Given the description of an element on the screen output the (x, y) to click on. 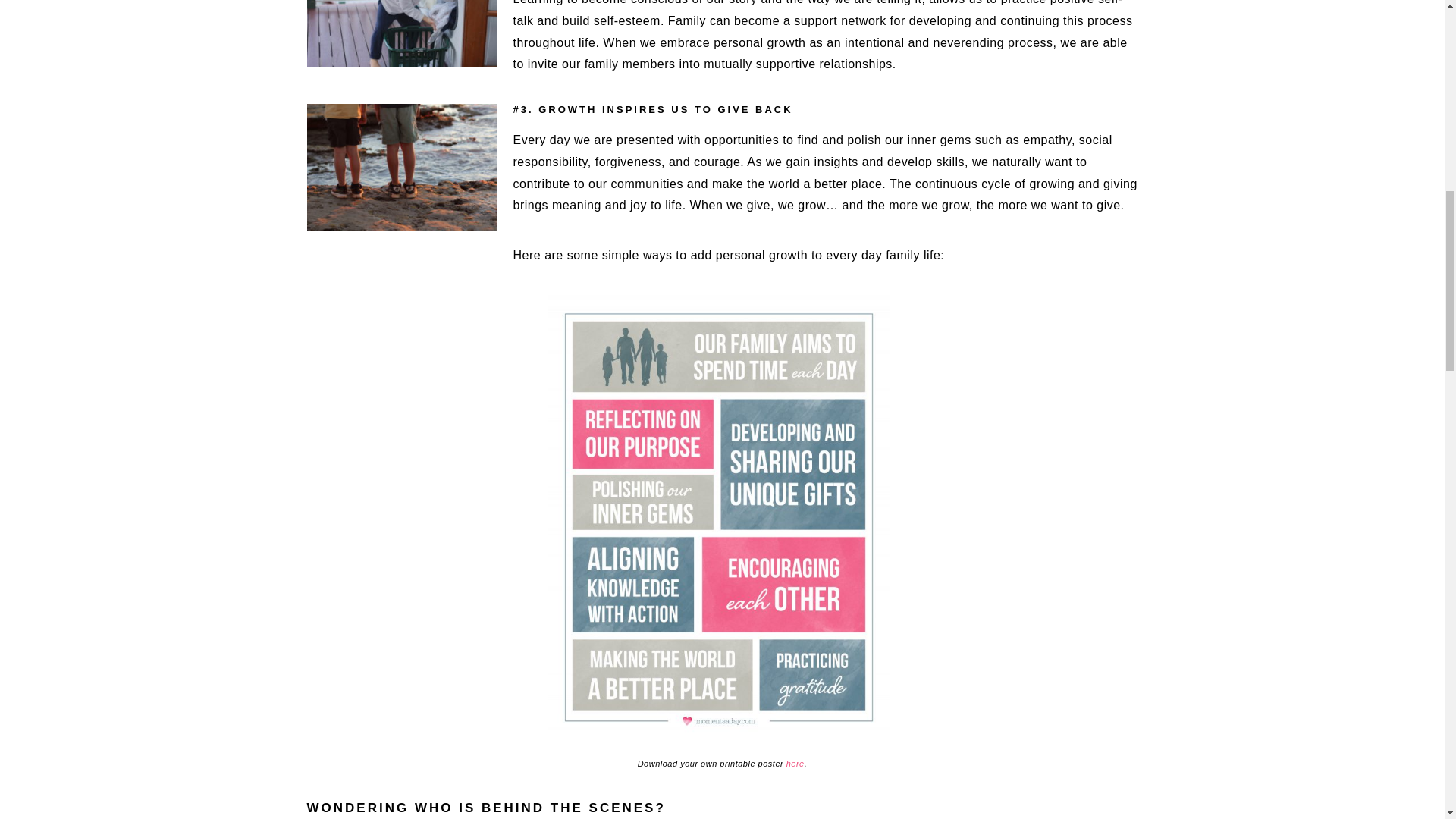
here (795, 763)
